Given the description of an element on the screen output the (x, y) to click on. 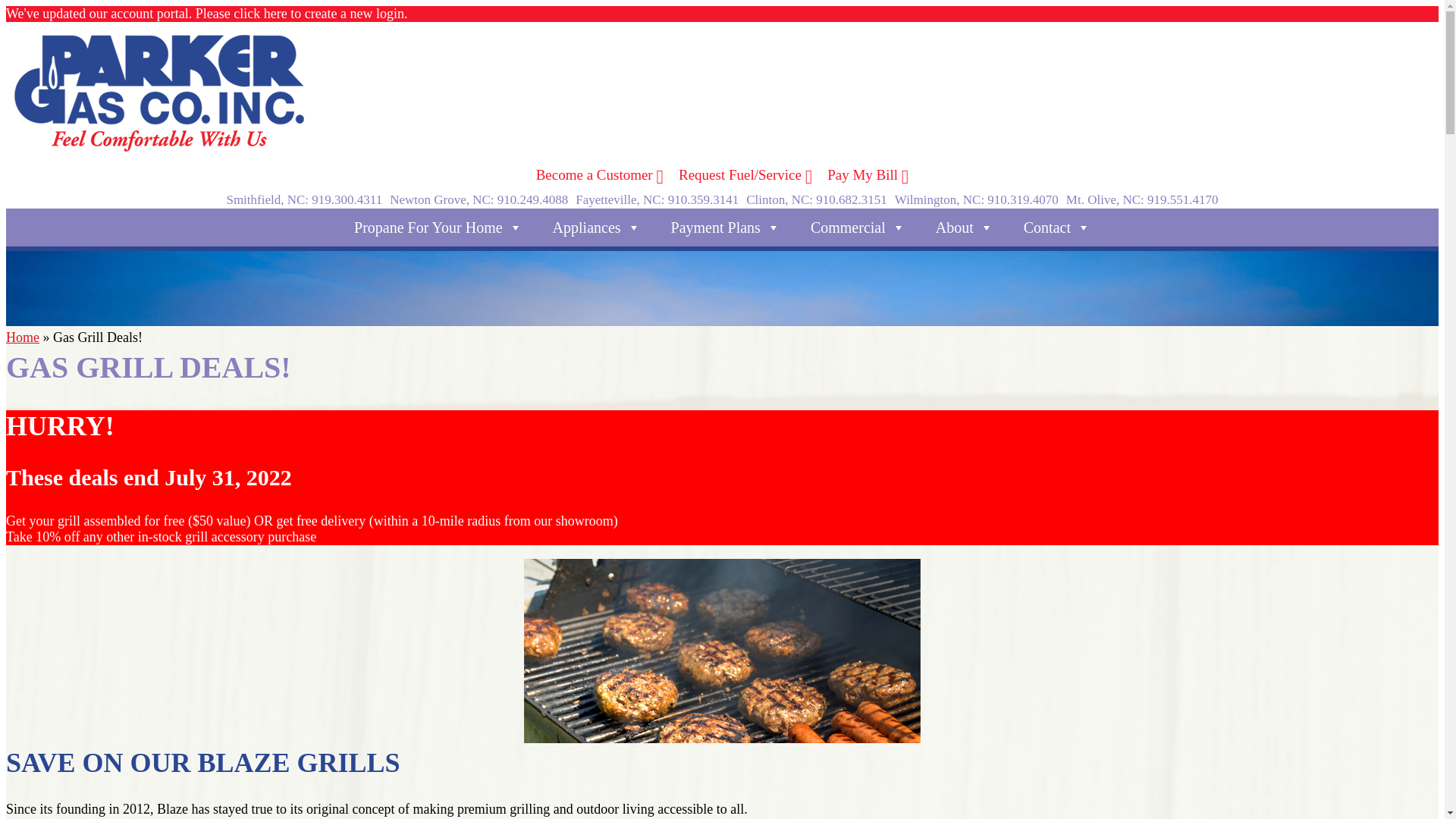
Mt. Olive, NC: 919.551.4170 (1142, 199)
Newton Grove, NC: 910.249.4088 (478, 199)
Fayetteville, NC: 910.359.3141 (657, 199)
Wilmington, NC: 910.319.4070 (976, 199)
Clinton, NC: 910.682.3151 (816, 199)
Smithfield, NC: 919.300.4311 (303, 199)
About (964, 227)
click here (259, 13)
Appliances (596, 227)
Payment Plans (725, 227)
Commercial (857, 227)
Become a Customer (599, 174)
Propane For Your Home (438, 227)
Pay My Bill (867, 174)
